Given the description of an element on the screen output the (x, y) to click on. 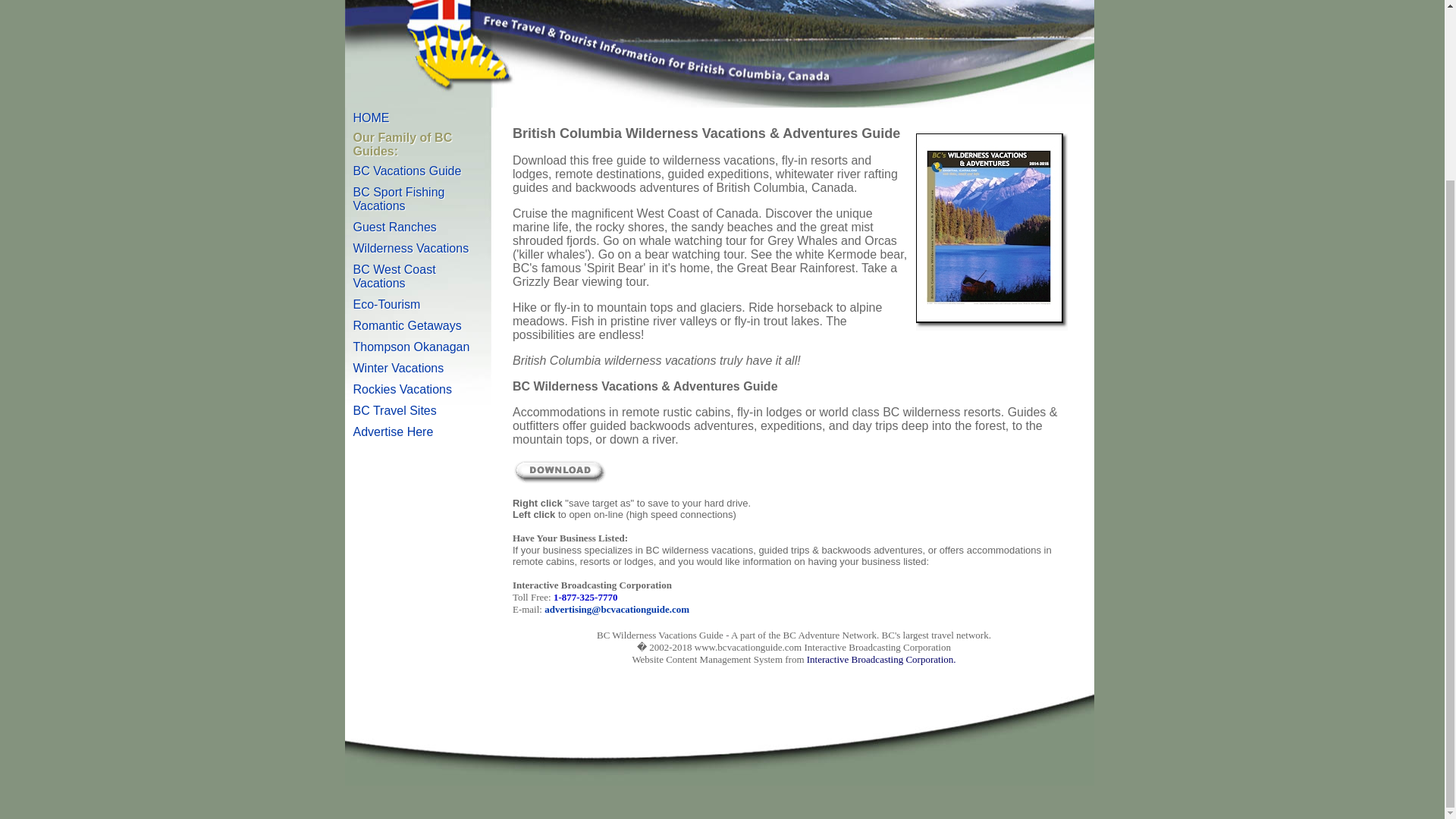
Romantic Getaways (407, 325)
HOME (371, 117)
BC Sport Fishing Vacations (399, 198)
Wilderness Vacations (410, 247)
Thompson Okanagan (411, 346)
BC West Coast Vacations (394, 275)
Advertise Here (393, 431)
BC Travel Sites (394, 410)
Eco-Tourism (386, 304)
Rockies Vacations (402, 389)
